Given the description of an element on the screen output the (x, y) to click on. 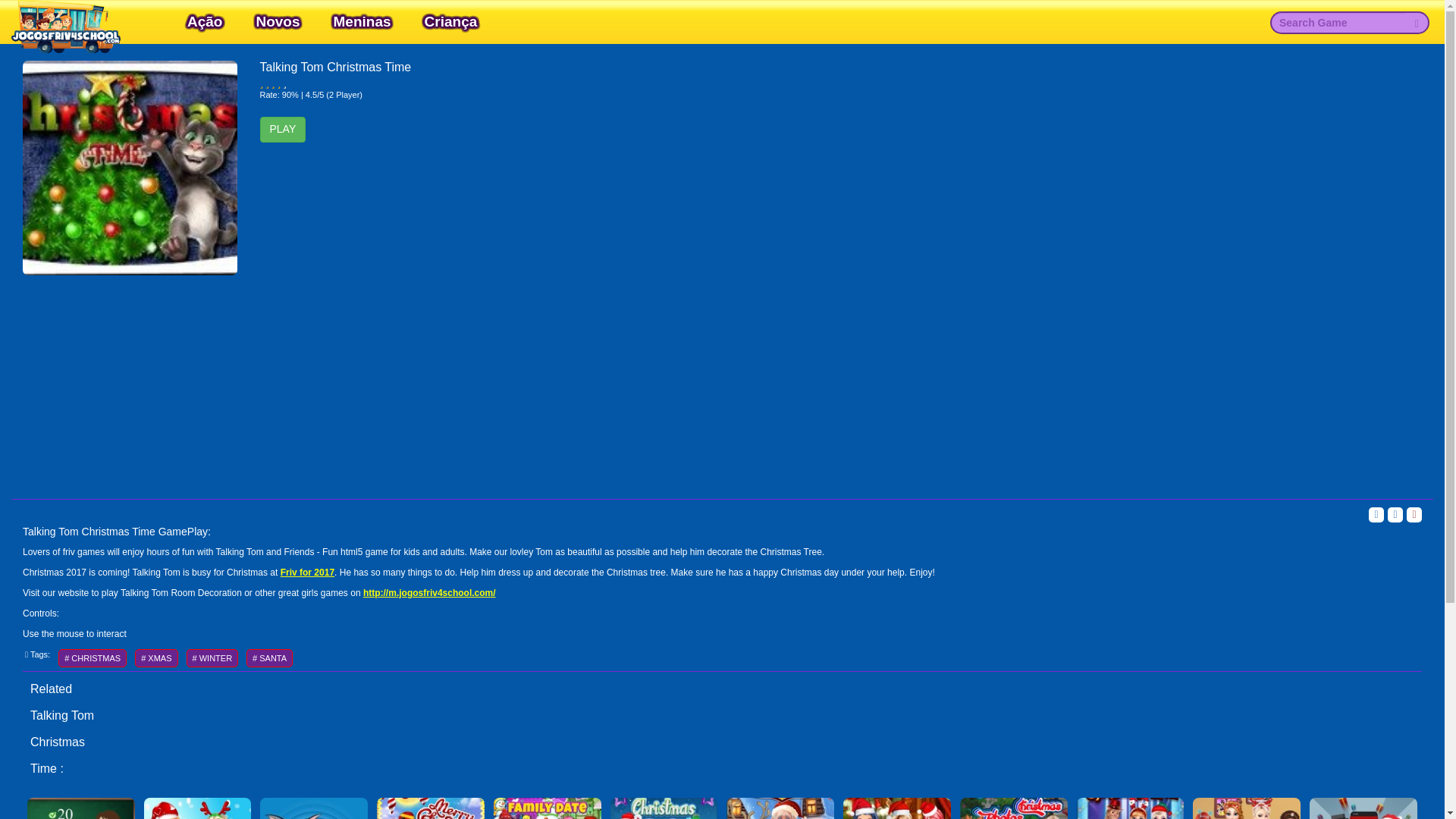
Advertisement (721, 380)
Princesses Christmas Party (663, 806)
Disney Princesses Christmas Dinner (1246, 806)
Christmas IO (1363, 806)
Meninas (362, 22)
Frozen Christmas Eve (1130, 806)
Tom and Jerry: Mouse Maze (314, 806)
Princesses Christmas Card Decoration (430, 806)
Novos (278, 22)
Tom And Angela School Quiz (81, 806)
